Given the description of an element on the screen output the (x, y) to click on. 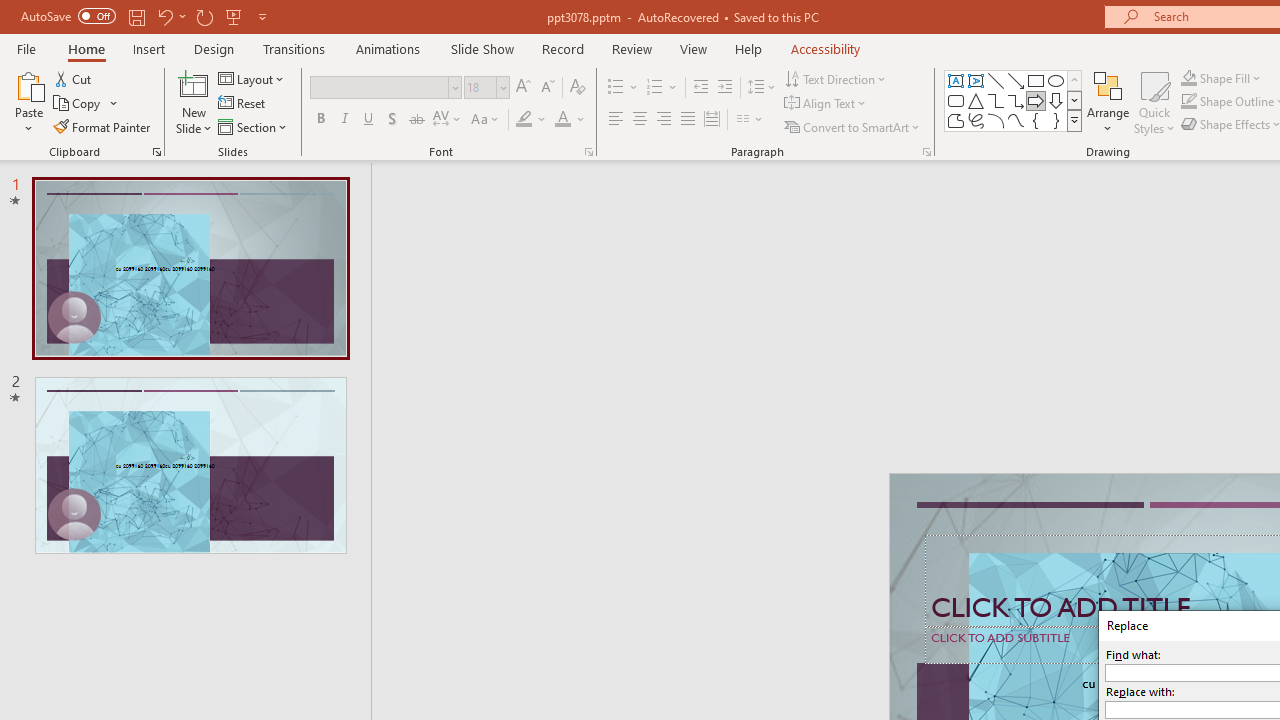
Shape Outline Green, Accent 1 (1188, 101)
